Given the description of an element on the screen output the (x, y) to click on. 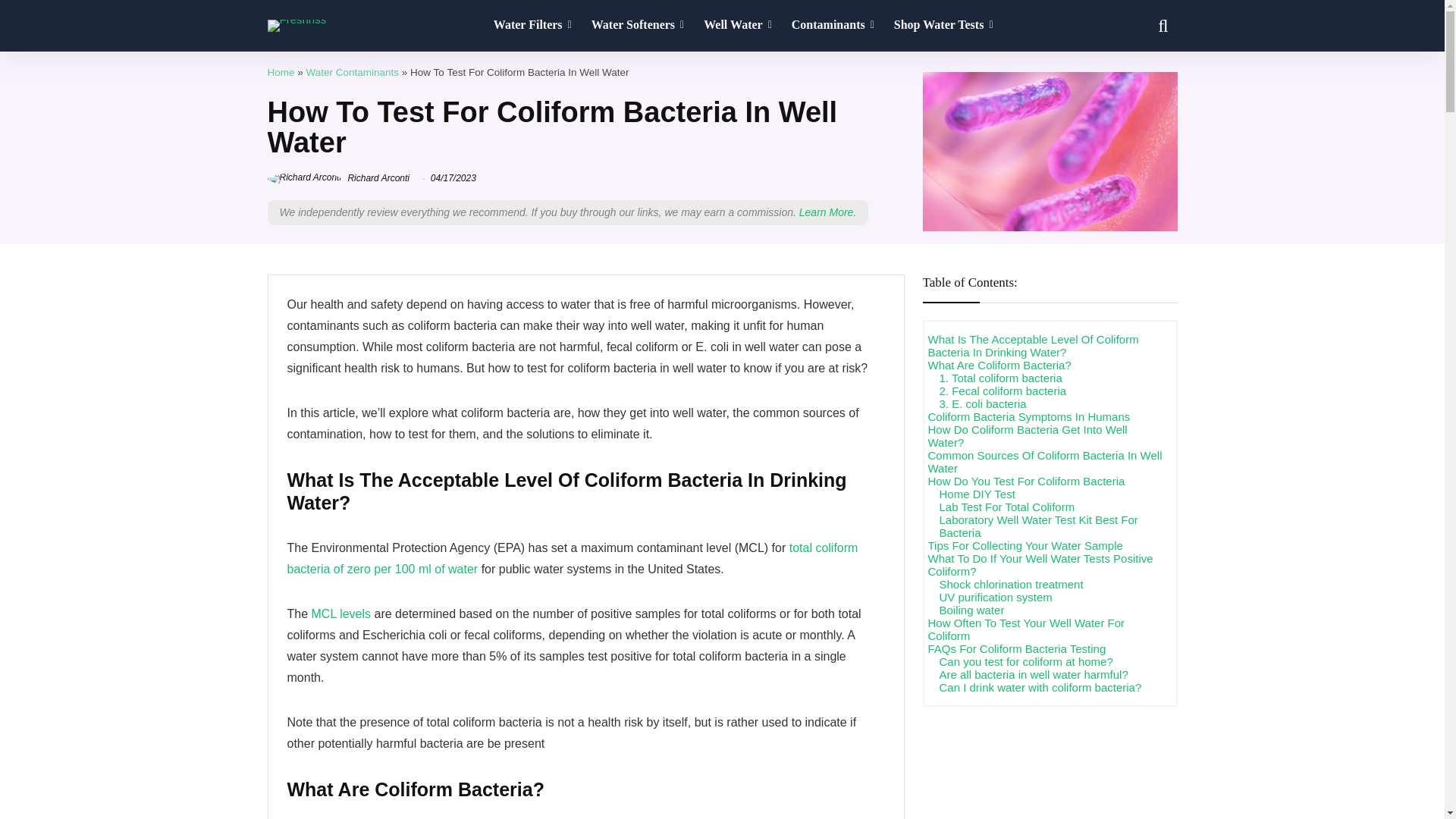
Contaminants (832, 25)
Water Filters (531, 25)
Well Water (737, 25)
Water Softeners (637, 25)
